Given the description of an element on the screen output the (x, y) to click on. 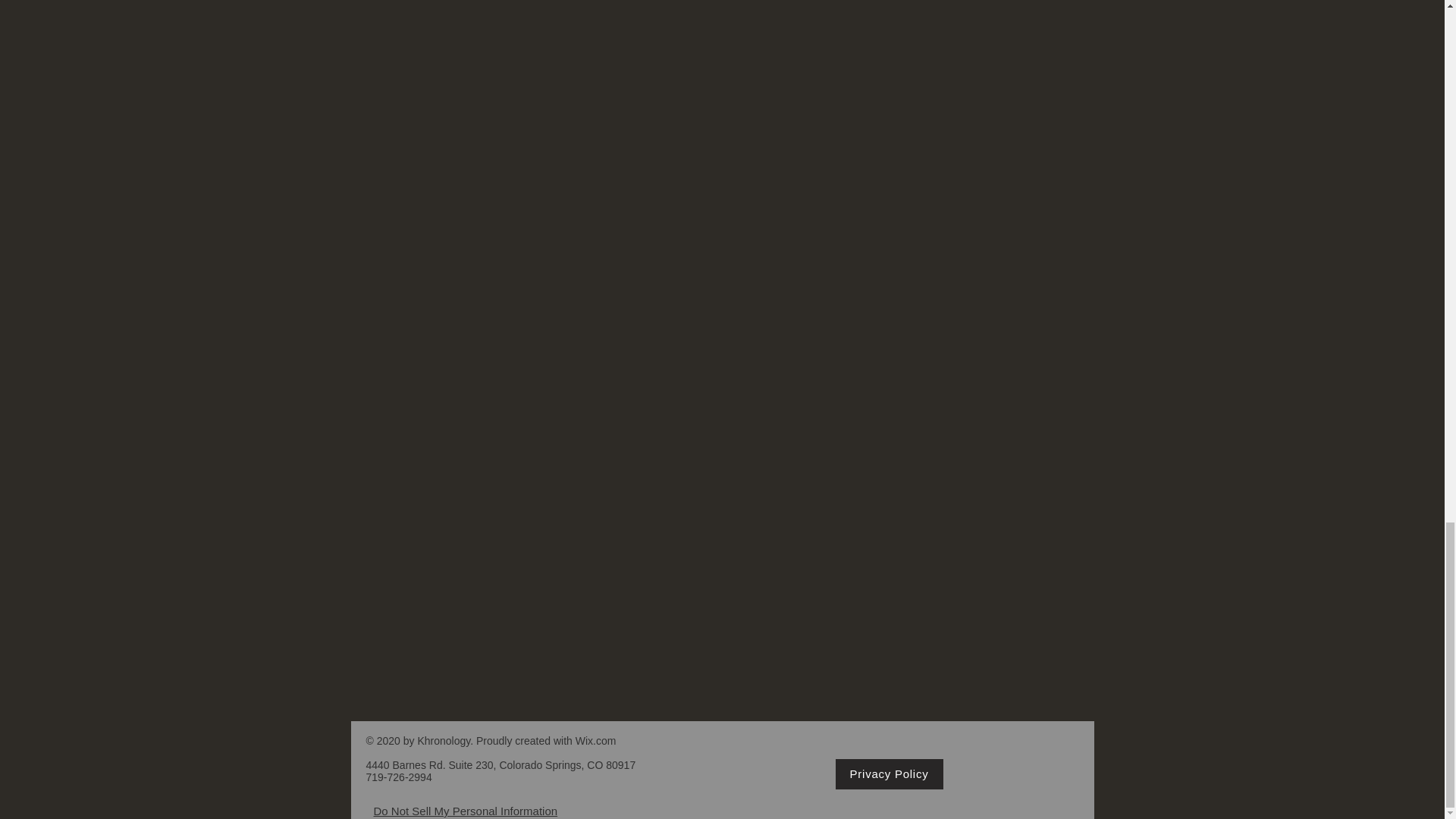
Wix.com (595, 740)
Privacy Policy (889, 774)
